Given the description of an element on the screen output the (x, y) to click on. 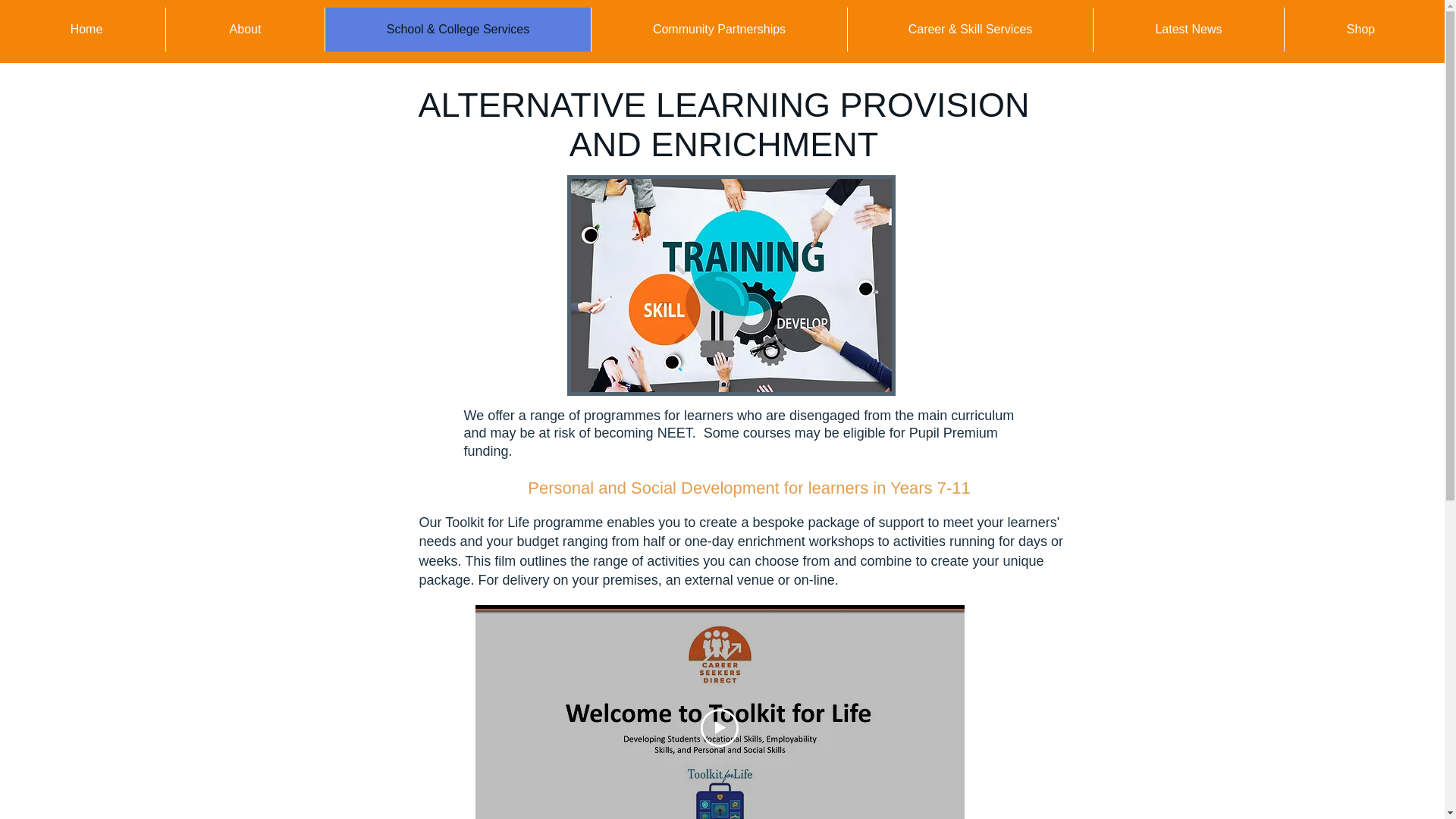
Shop (1360, 29)
About (244, 29)
Latest News (1188, 29)
Home (86, 29)
Community Partnerships (719, 29)
